Given the description of an element on the screen output the (x, y) to click on. 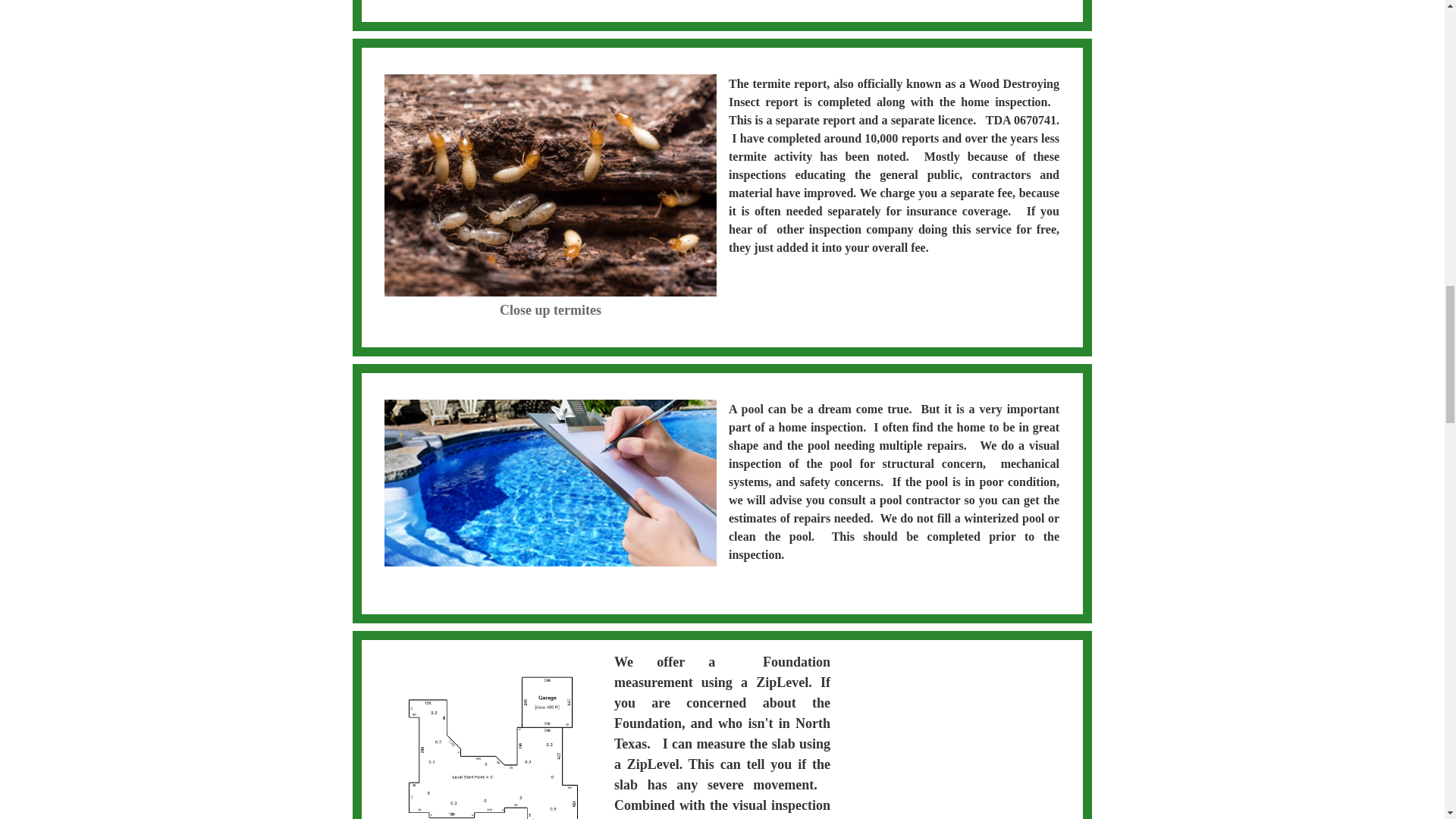
Close up termites or white ants (550, 184)
Level Report (493, 742)
pool-inspections (550, 482)
